Given the description of an element on the screen output the (x, y) to click on. 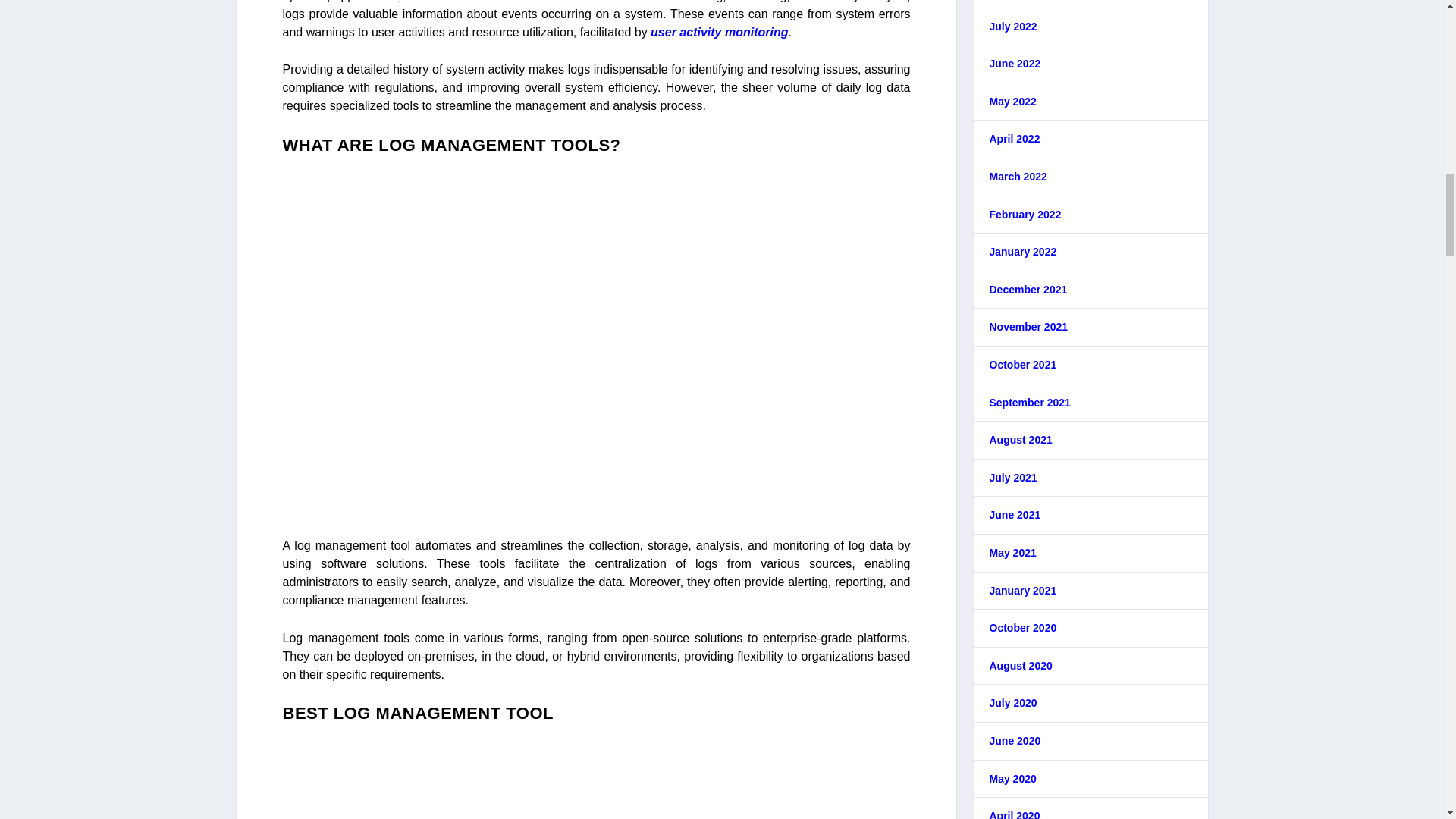
EmpMonitor (596, 775)
user activity monitoring (718, 31)
